Given the description of an element on the screen output the (x, y) to click on. 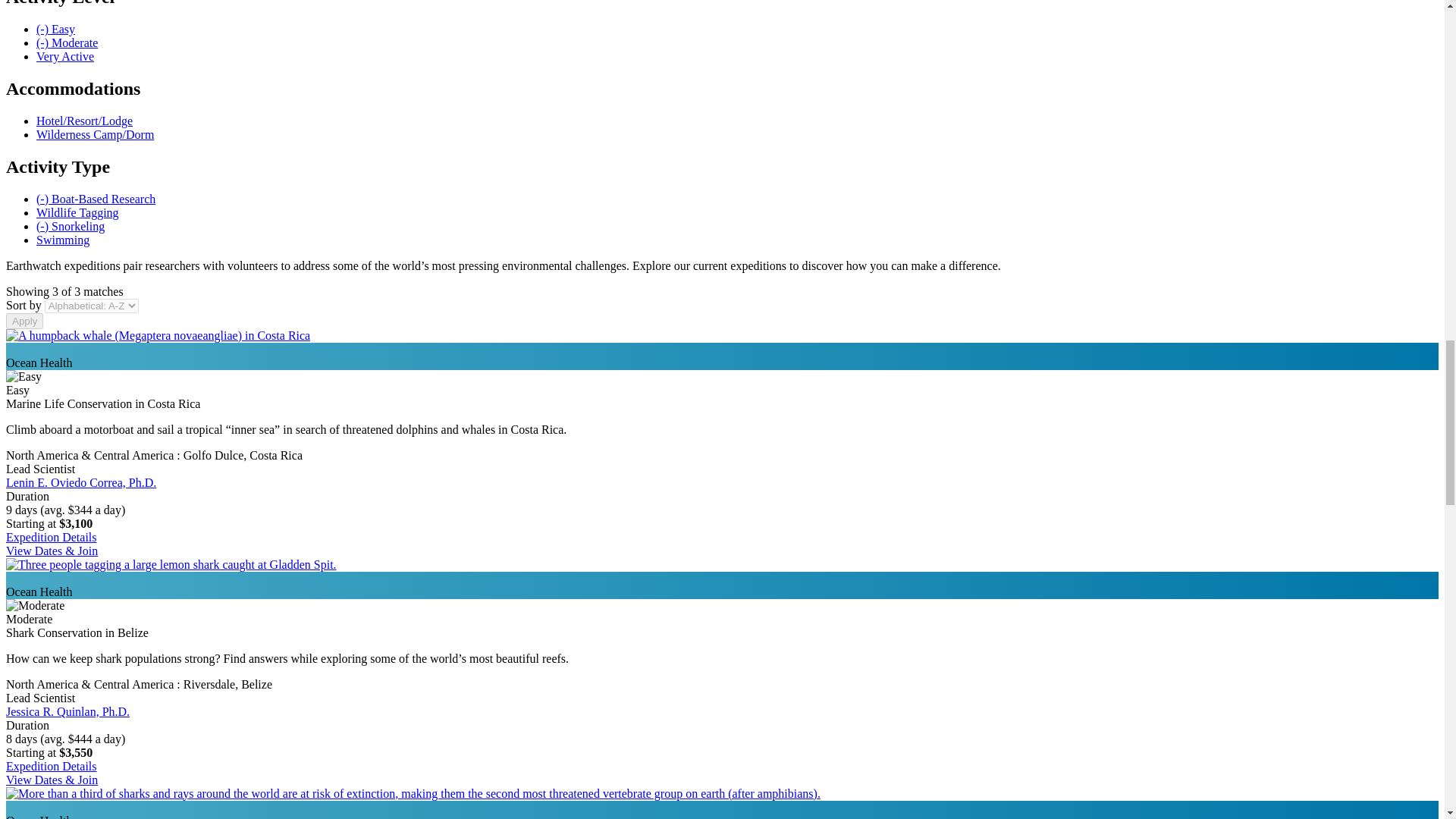
Apply (24, 320)
